Given the description of an element on the screen output the (x, y) to click on. 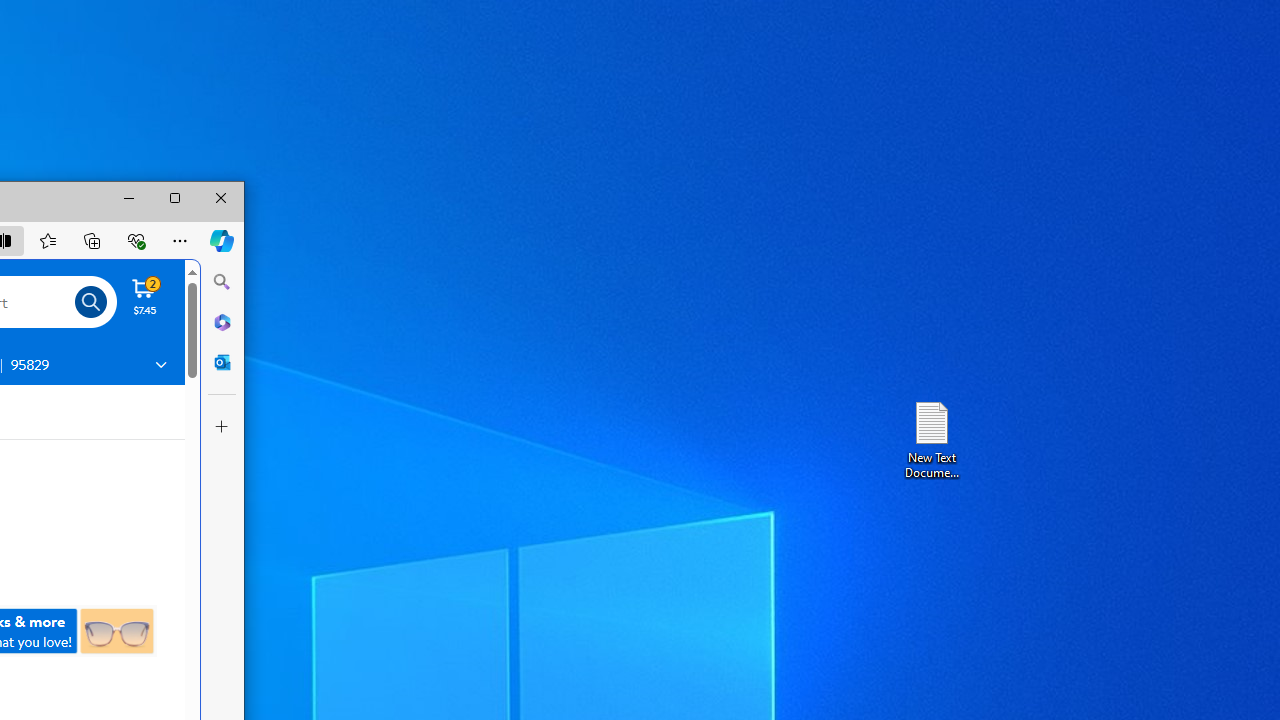
Cart contains 2 items Total Amount $7.45 (145, 295)
Close Search pane (221, 282)
New Text Document (2) (931, 438)
Maximize (175, 198)
Search icon (91, 301)
